Given the description of an element on the screen output the (x, y) to click on. 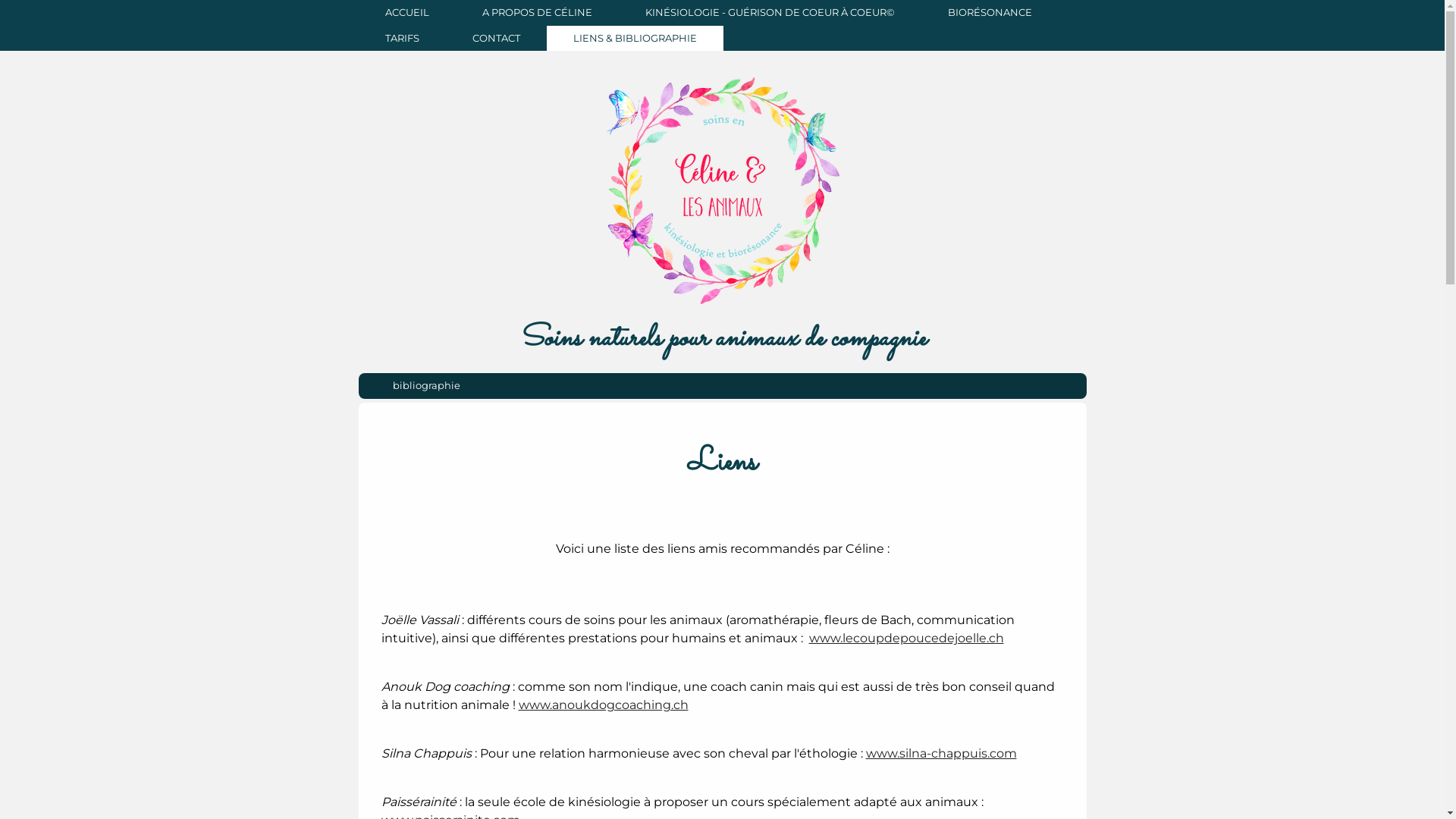
www.silna-chappuis.com Element type: text (941, 753)
Soins naturels pour animaux de compagnie Element type: text (721, 340)
ACCUEIL Element type: text (406, 12)
TARIFS Element type: text (401, 38)
bibliographie Element type: text (425, 385)
www.anoukdogcoaching.ch Element type: text (603, 704)
www.lecoupdepoucedejoelle.ch Element type: text (905, 637)
LIENS & BIBLIOGRAPHIE Element type: text (634, 38)
CONTACT Element type: text (495, 38)
